Given the description of an element on the screen output the (x, y) to click on. 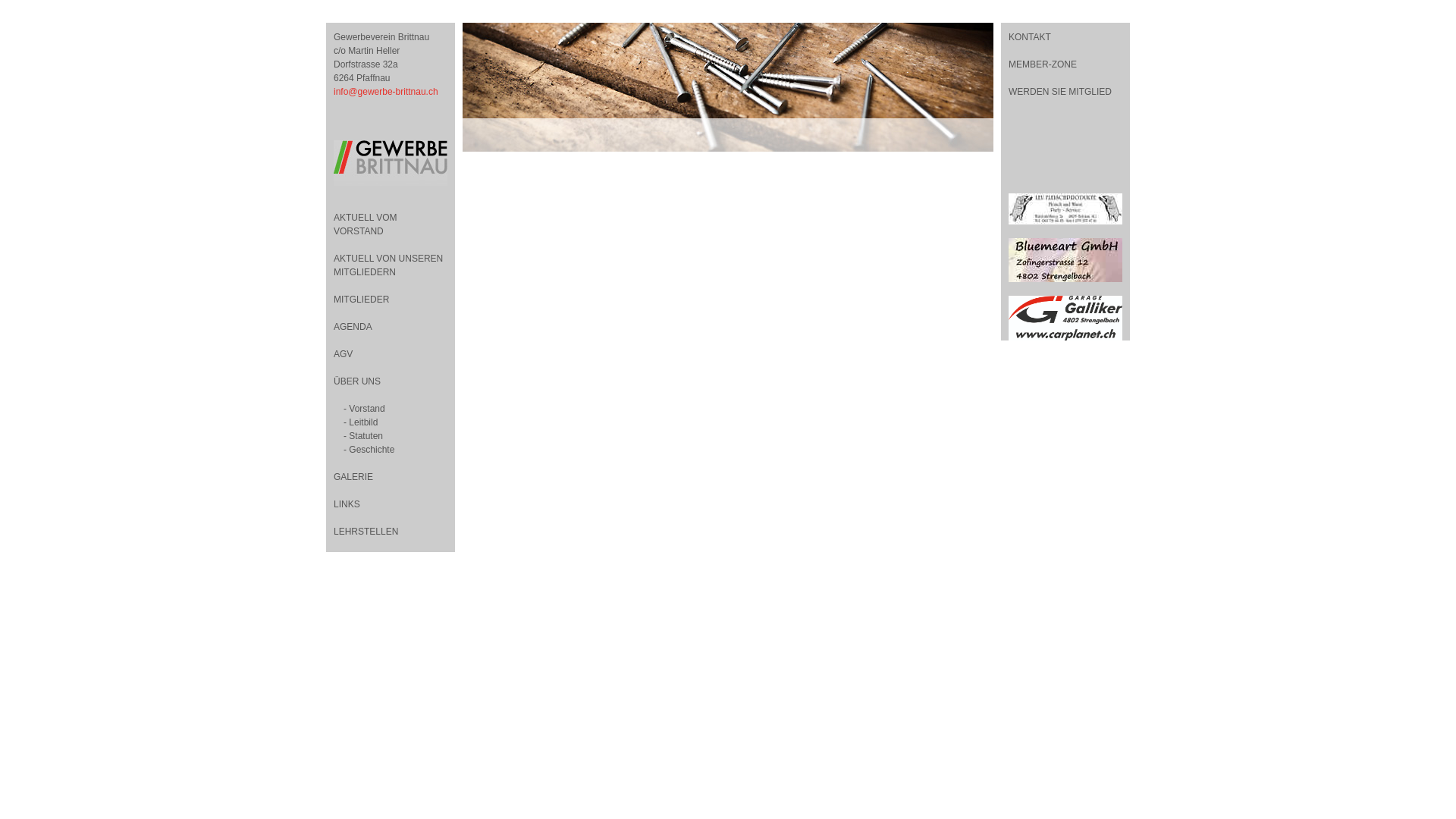
LEHRSTELLEN Element type: text (365, 531)
AGV Element type: text (342, 353)
- Statuten Element type: text (362, 435)
- Vorstand Element type: text (364, 408)
AGENDA Element type: text (352, 326)
info@gewerbe-brittnau.ch Element type: text (385, 91)
KONTAKT Element type: text (1065, 36)
- Leitbild Element type: text (360, 422)
WERDEN SIE MITGLIED Element type: text (1065, 91)
- Geschichte Element type: text (368, 449)
MEMBER-ZONE Element type: text (1065, 64)
AKTUELL VON UNSEREN MITGLIEDERN Element type: text (387, 265)
MITGLIEDER Element type: text (361, 299)
AKTUELL VOM VORSTAND Element type: text (365, 224)
LINKS Element type: text (346, 503)
GALERIE Element type: text (353, 476)
